Given the description of an element on the screen output the (x, y) to click on. 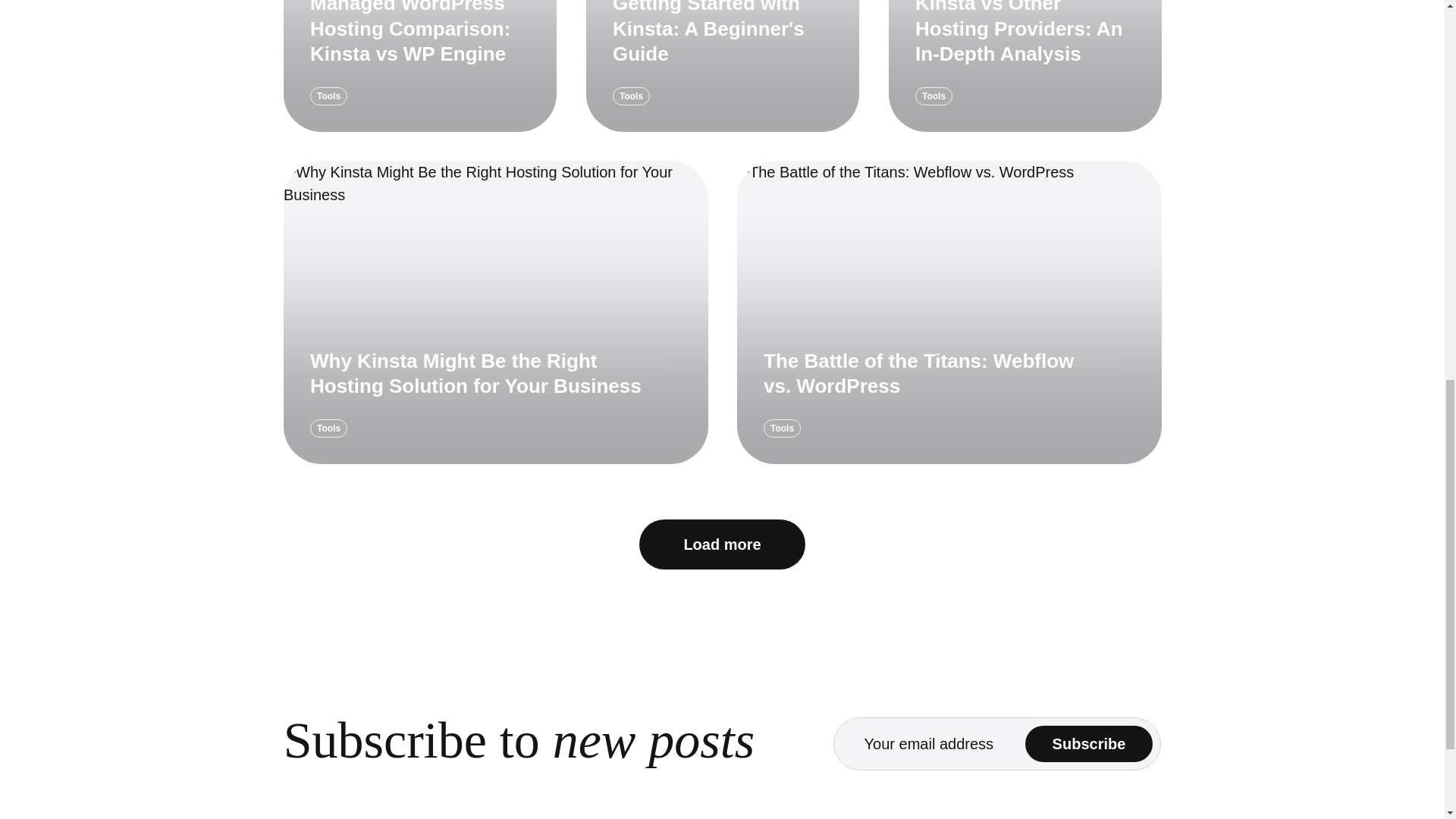
Tools (630, 95)
Load more (722, 544)
Tools (781, 428)
Getting Started with Kinsta: A Beginner's Guide (707, 32)
Subscribe (1089, 743)
The Battle of the Titans: Webflow vs. WordPress (918, 372)
Tools (328, 428)
Kinsta vs Other Hosting Providers: An In-Depth Analysis (1018, 32)
Tools (328, 95)
Managed WordPress Hosting Comparison: Kinsta vs WP Engine (410, 32)
Tools (933, 95)
